Given the description of an element on the screen output the (x, y) to click on. 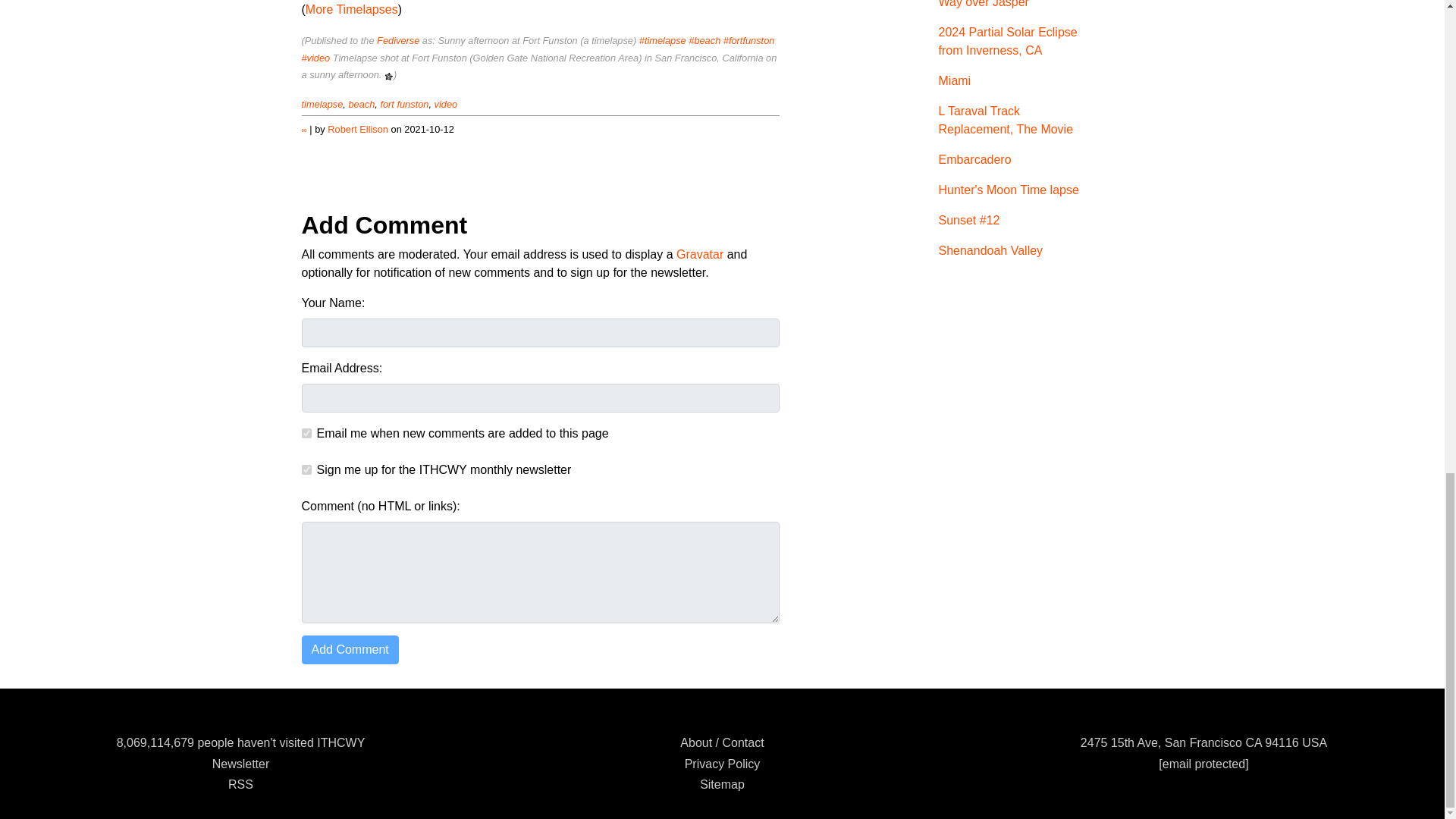
true (306, 433)
Subscribe to ITHCWY via RSS (240, 784)
true (306, 470)
